Given the description of an element on the screen output the (x, y) to click on. 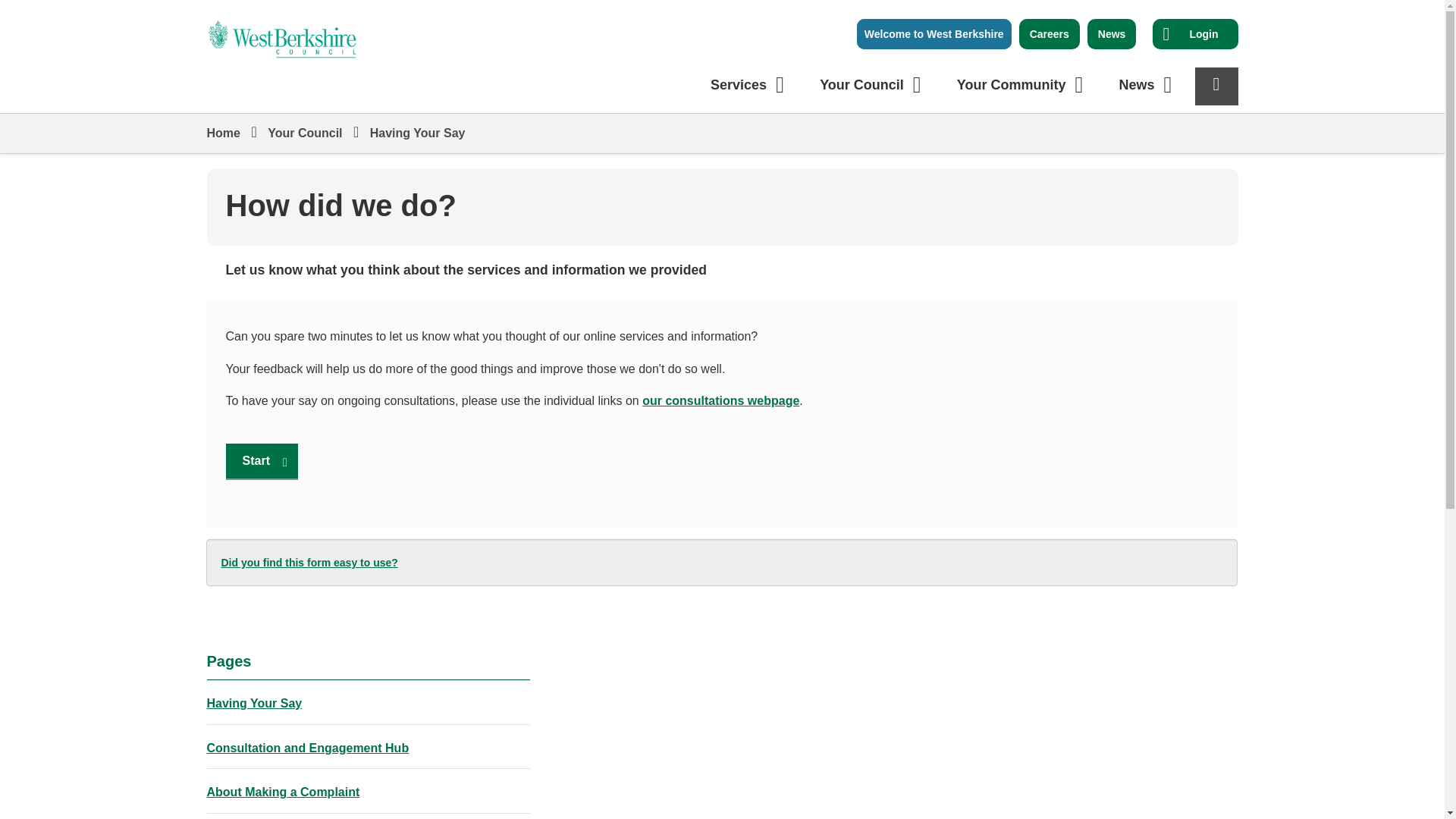
Careers (1049, 33)
News (1112, 33)
Skip to main content (11, 11)
Services (750, 84)
Login (282, 29)
Welcome to West Berkshire (1202, 33)
